Given the description of an element on the screen output the (x, y) to click on. 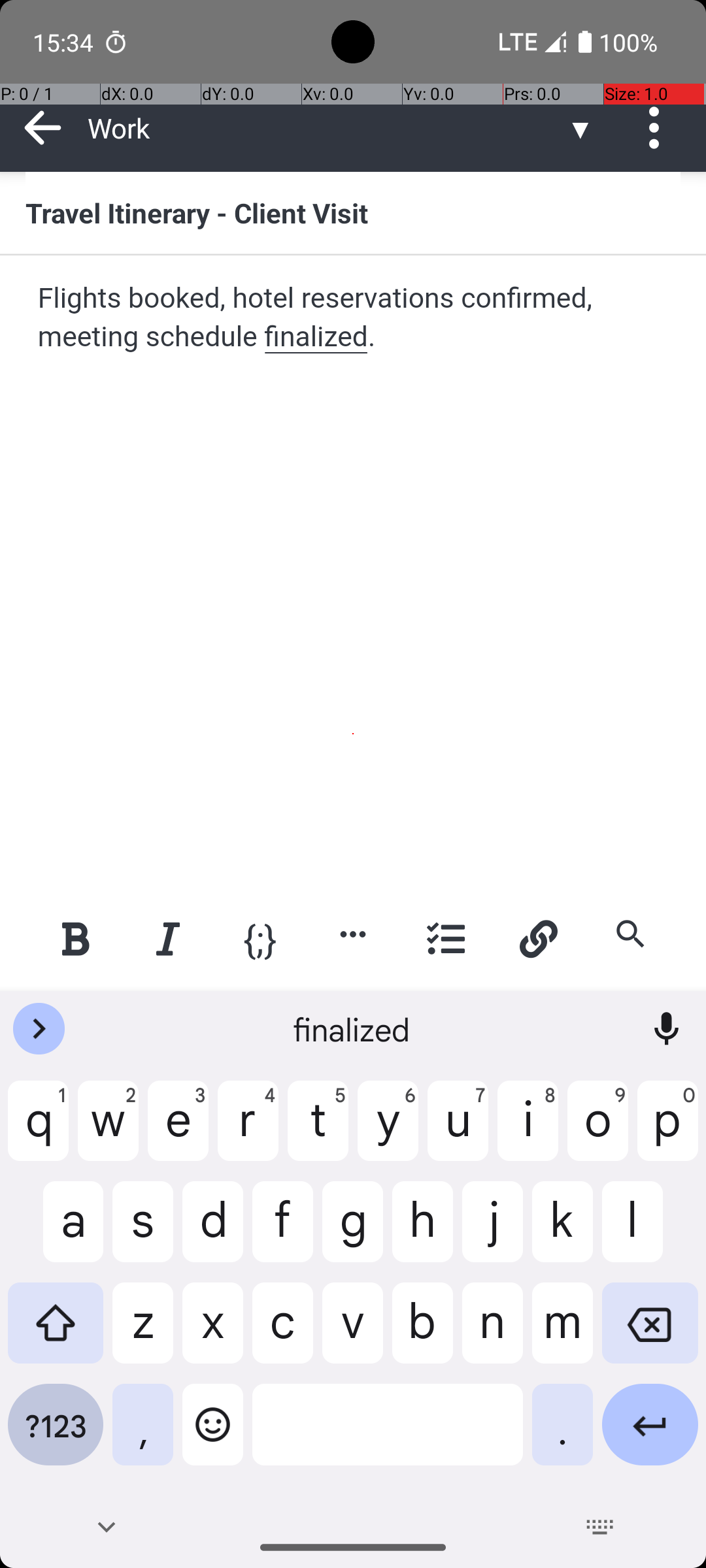
Travel Itinerary - Client Visit Element type: android.widget.EditText (352, 212)
Flights booked, hotel reservations confirmed, meeting schedule finalized. Element type: android.widget.EditText (354, 317)
finalized Element type: android.widget.FrameLayout (352, 1028)
